Given the description of an element on the screen output the (x, y) to click on. 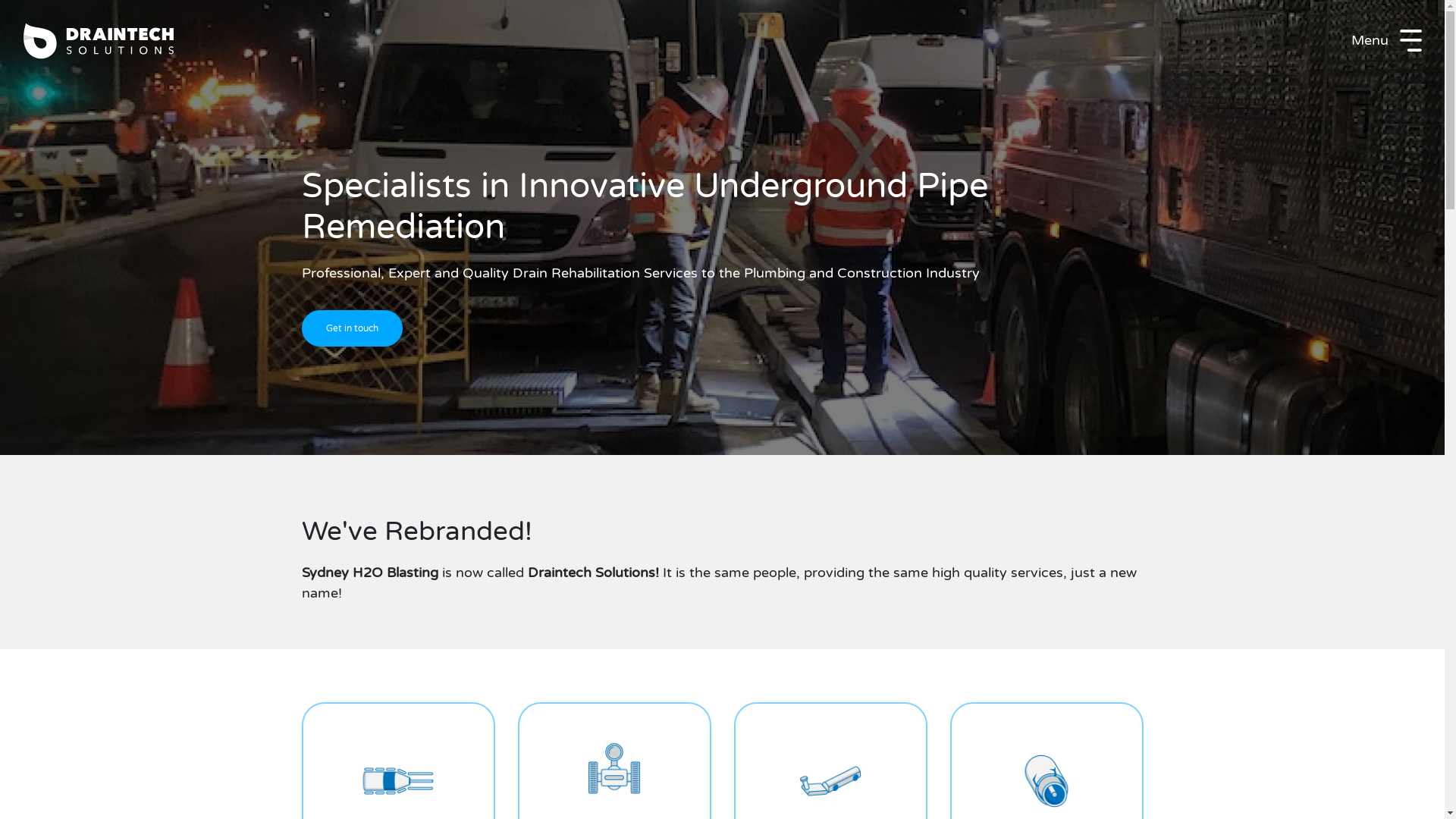
Get in touch Element type: text (351, 327)
Menu Element type: text (1386, 39)
